Given the description of an element on the screen output the (x, y) to click on. 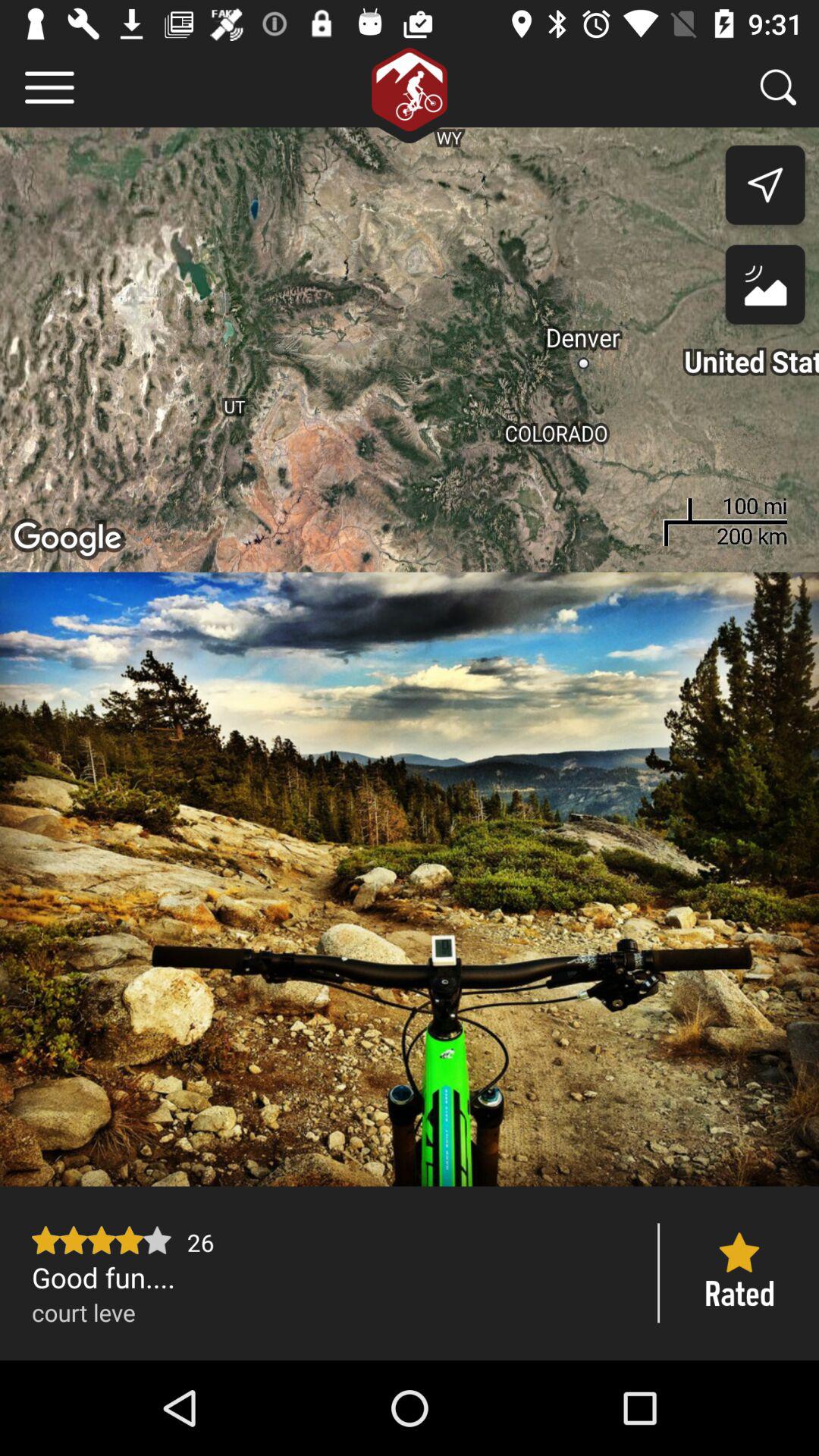
jump to the good fun.... item (329, 1277)
